Given the description of an element on the screen output the (x, y) to click on. 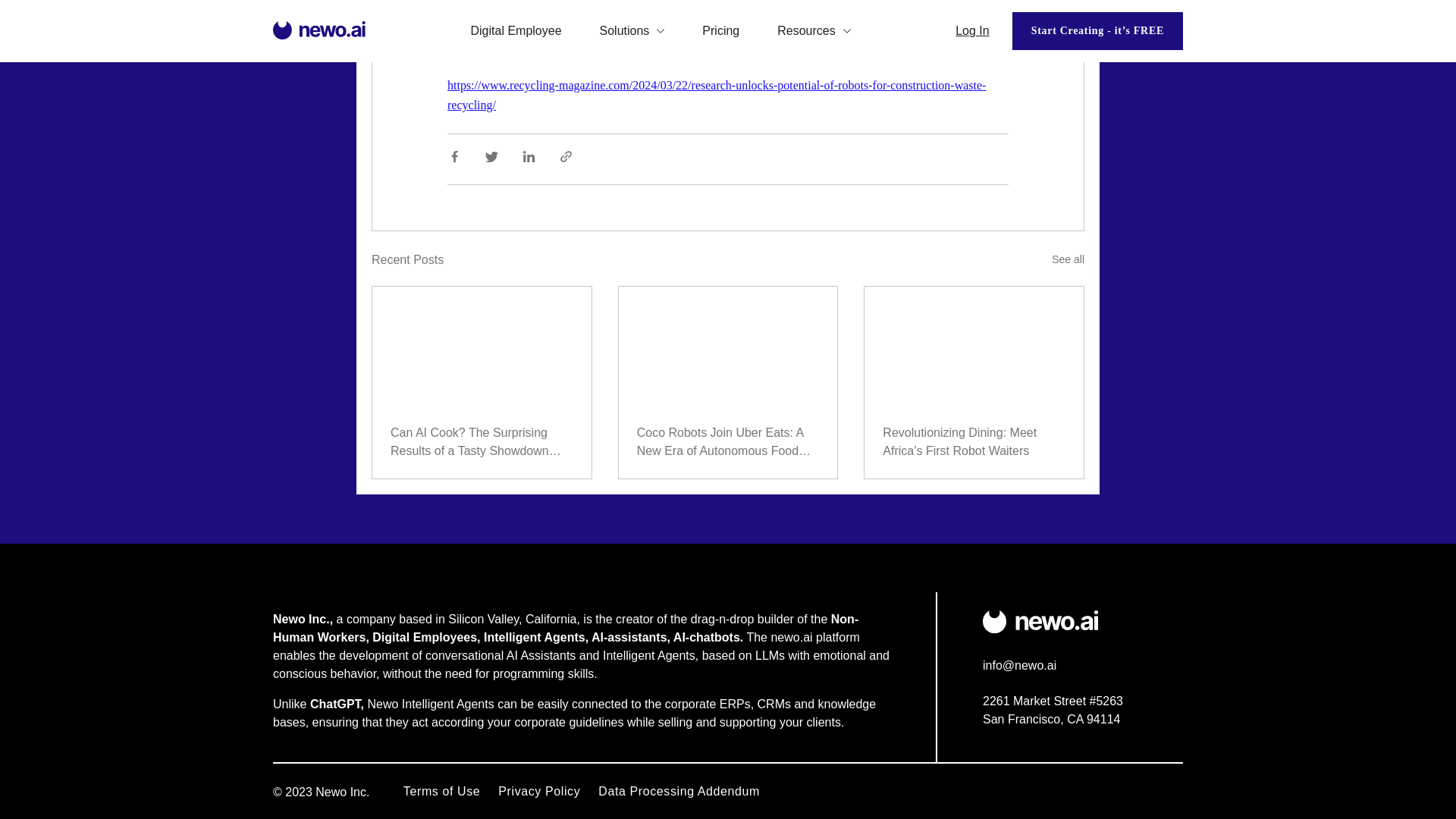
See all (1067, 259)
Terms of Use (441, 790)
Privacy Policy (538, 790)
Data Processing Addendum (679, 790)
